Given the description of an element on the screen output the (x, y) to click on. 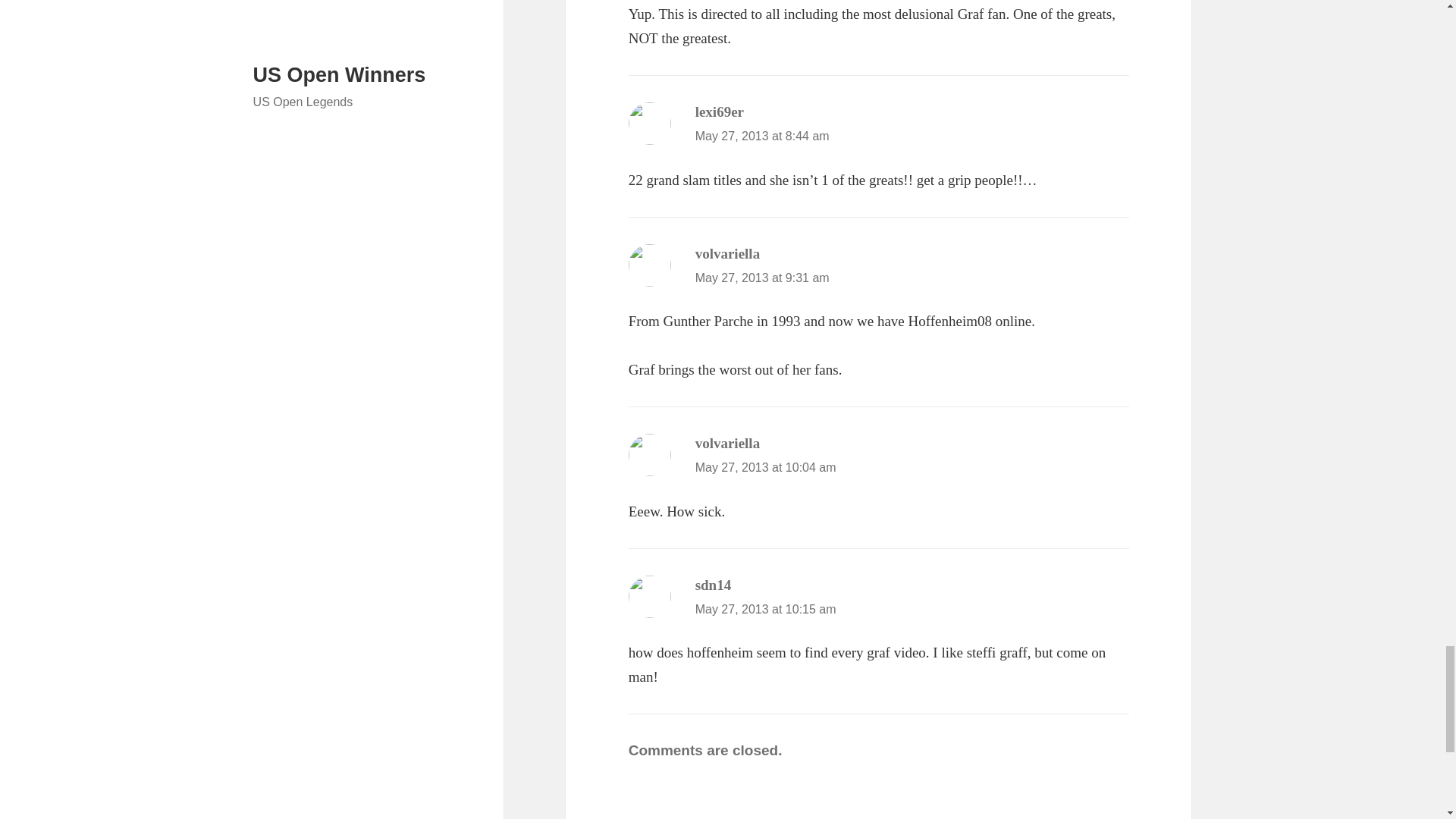
May 27, 2013 at 10:15 am (765, 608)
May 27, 2013 at 10:04 am (765, 467)
May 27, 2013 at 8:44 am (762, 135)
May 27, 2013 at 9:31 am (762, 277)
